Given the description of an element on the screen output the (x, y) to click on. 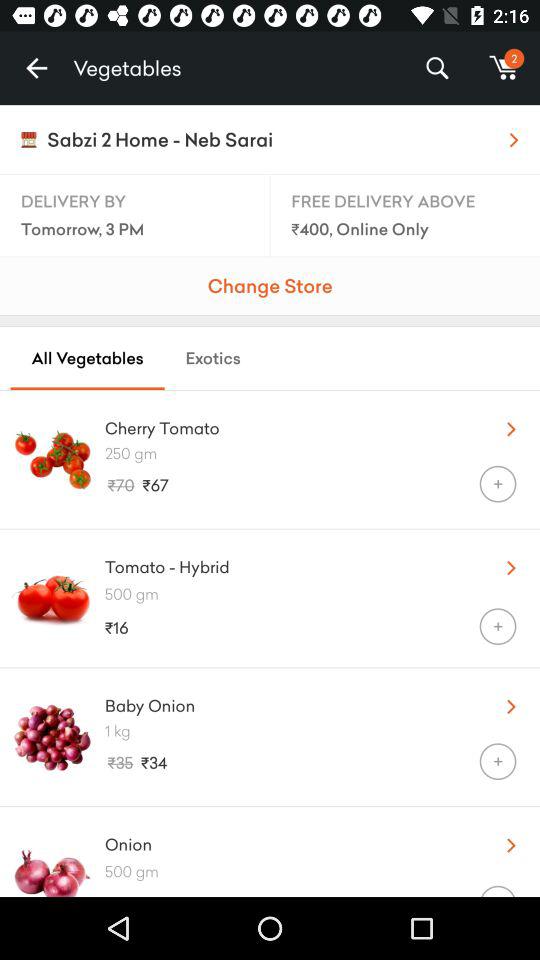
click icon next to vegetables item (36, 68)
